Given the description of an element on the screen output the (x, y) to click on. 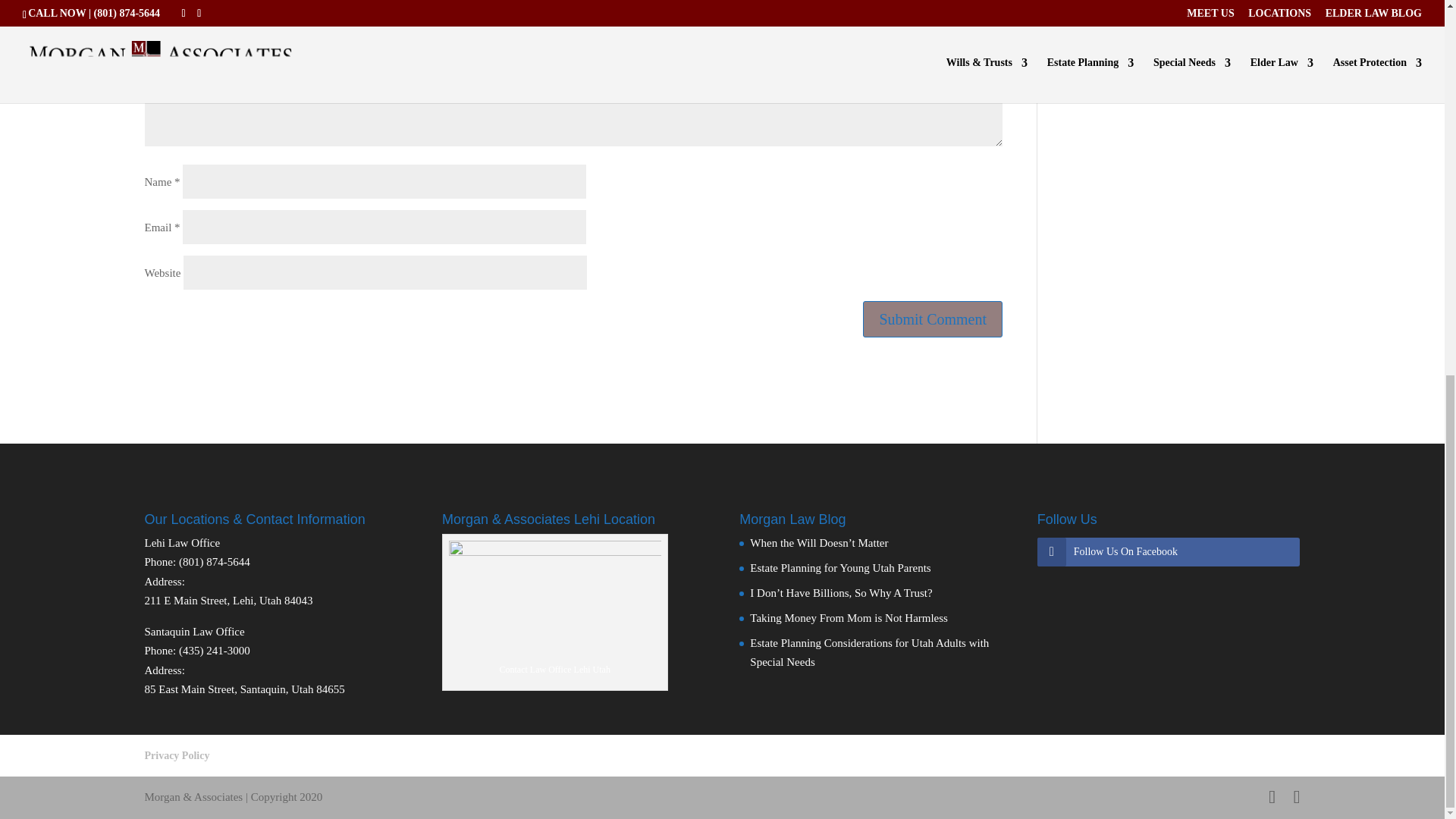
Submit Comment (933, 318)
